Given the description of an element on the screen output the (x, y) to click on. 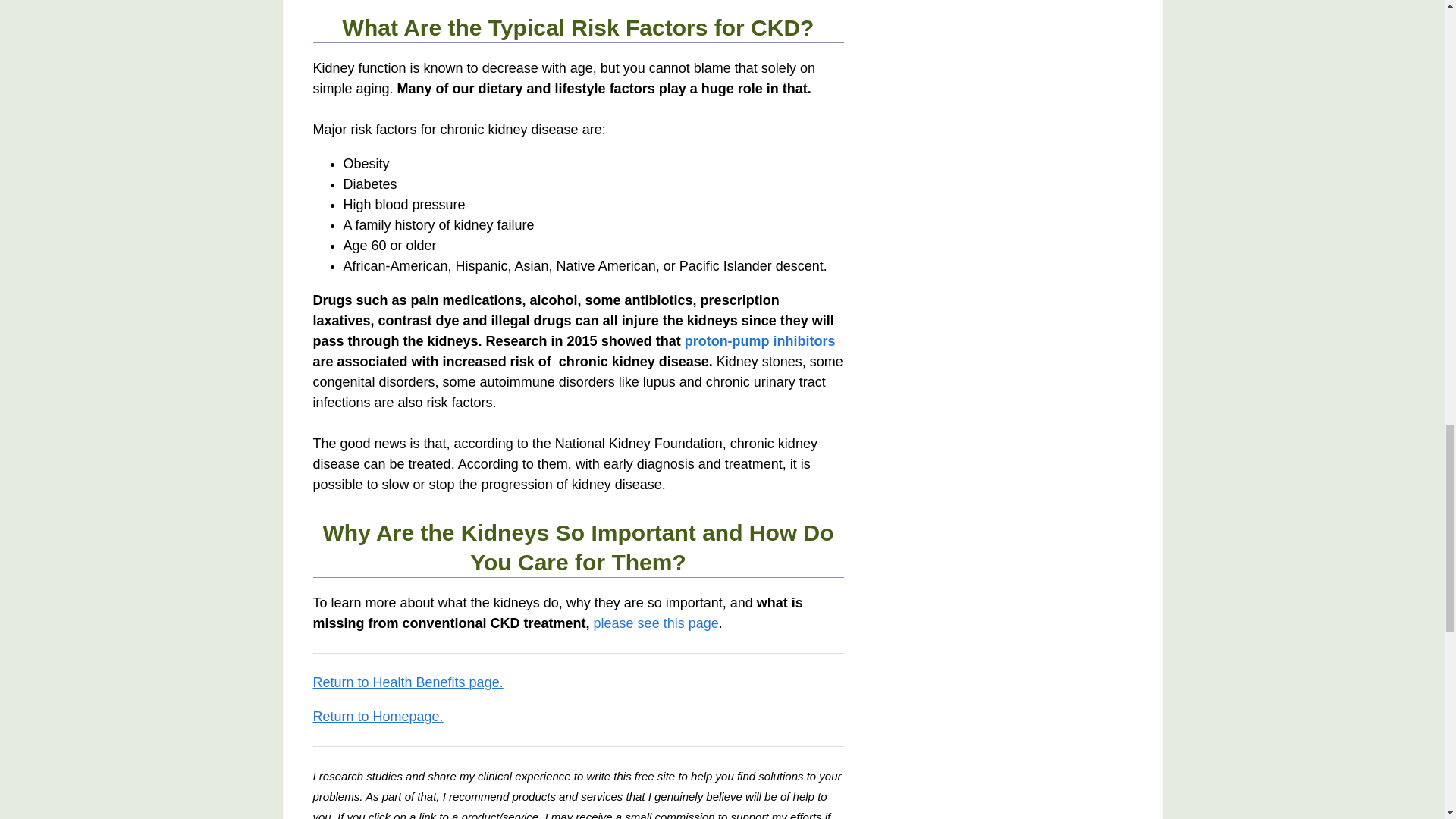
please see this page (656, 622)
Return to Health Benefits page. (407, 682)
proton-pump inhibitors (759, 340)
Return to Homepage. (377, 716)
